Given the description of an element on the screen output the (x, y) to click on. 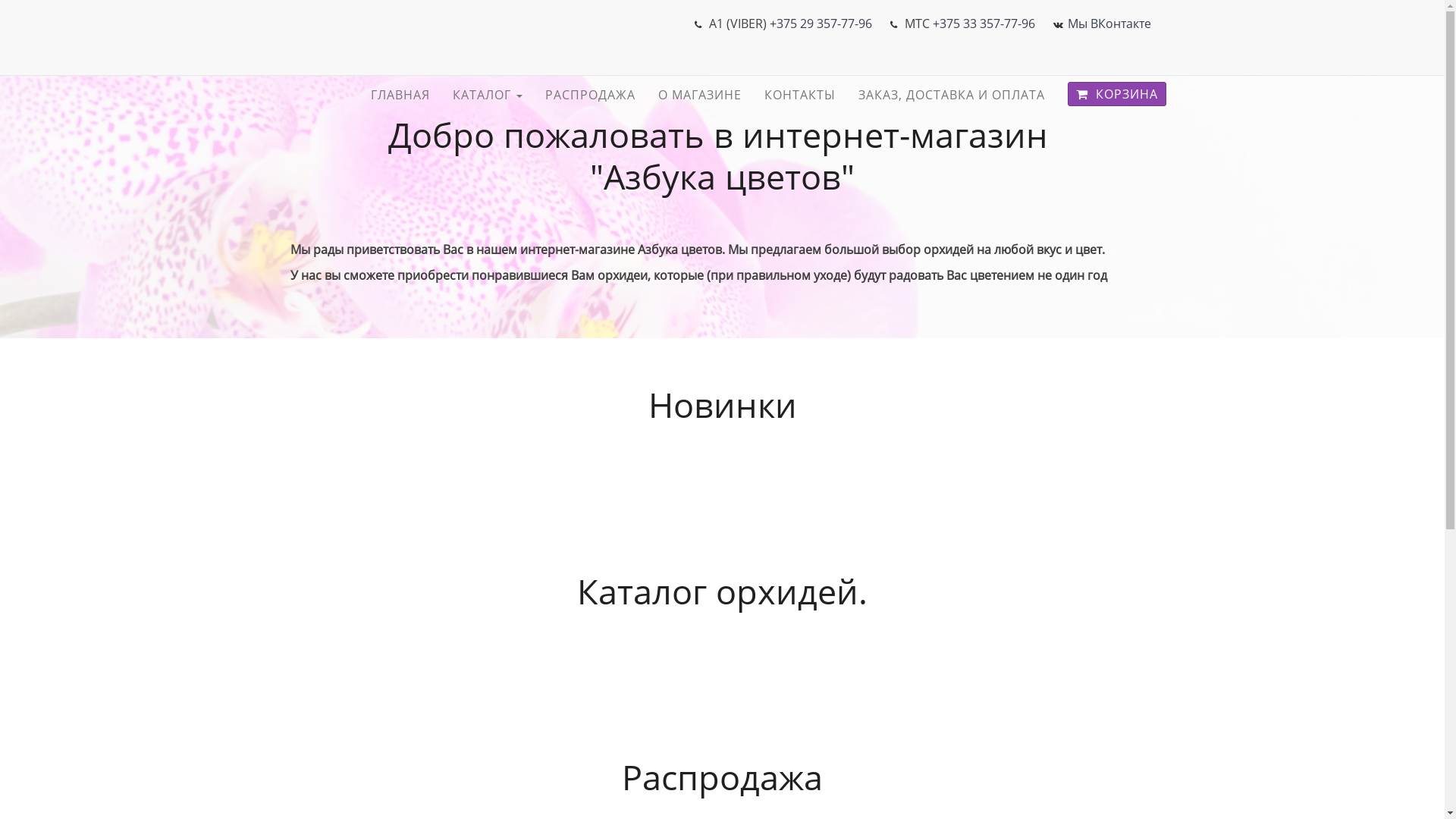
+375 33 357-77-96 Element type: text (983, 23)
+375 29 357-77-96 Element type: text (819, 23)
